Given the description of an element on the screen output the (x, y) to click on. 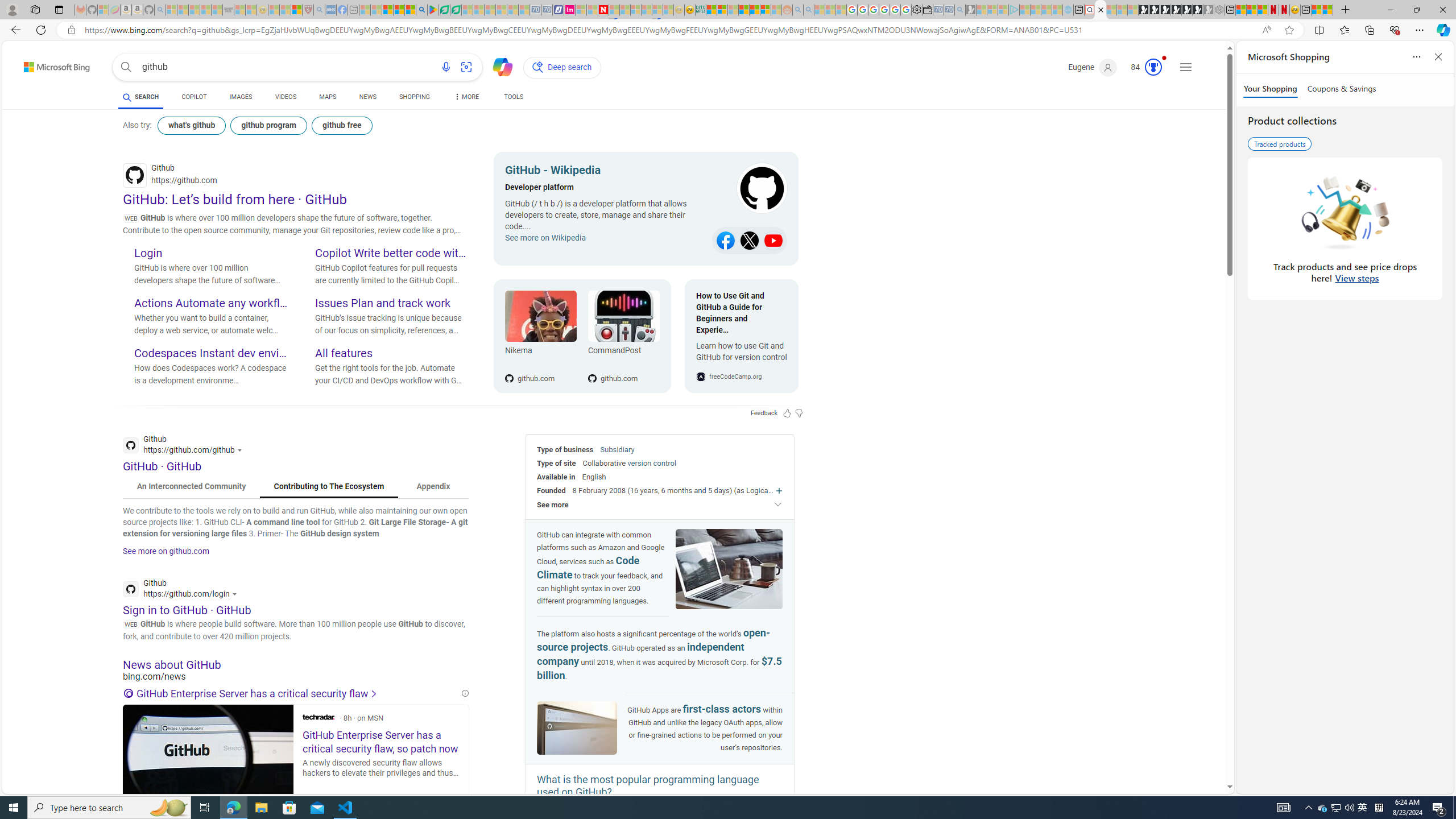
Type of site (556, 462)
Utah sues federal government - Search - Sleeping (807, 9)
TOOLS (512, 98)
Bluey: Let's Play! - Apps on Google Play (433, 9)
Eugene (1093, 67)
Nikema (540, 315)
Appendix (432, 486)
MAPS (327, 98)
